Given the description of an element on the screen output the (x, y) to click on. 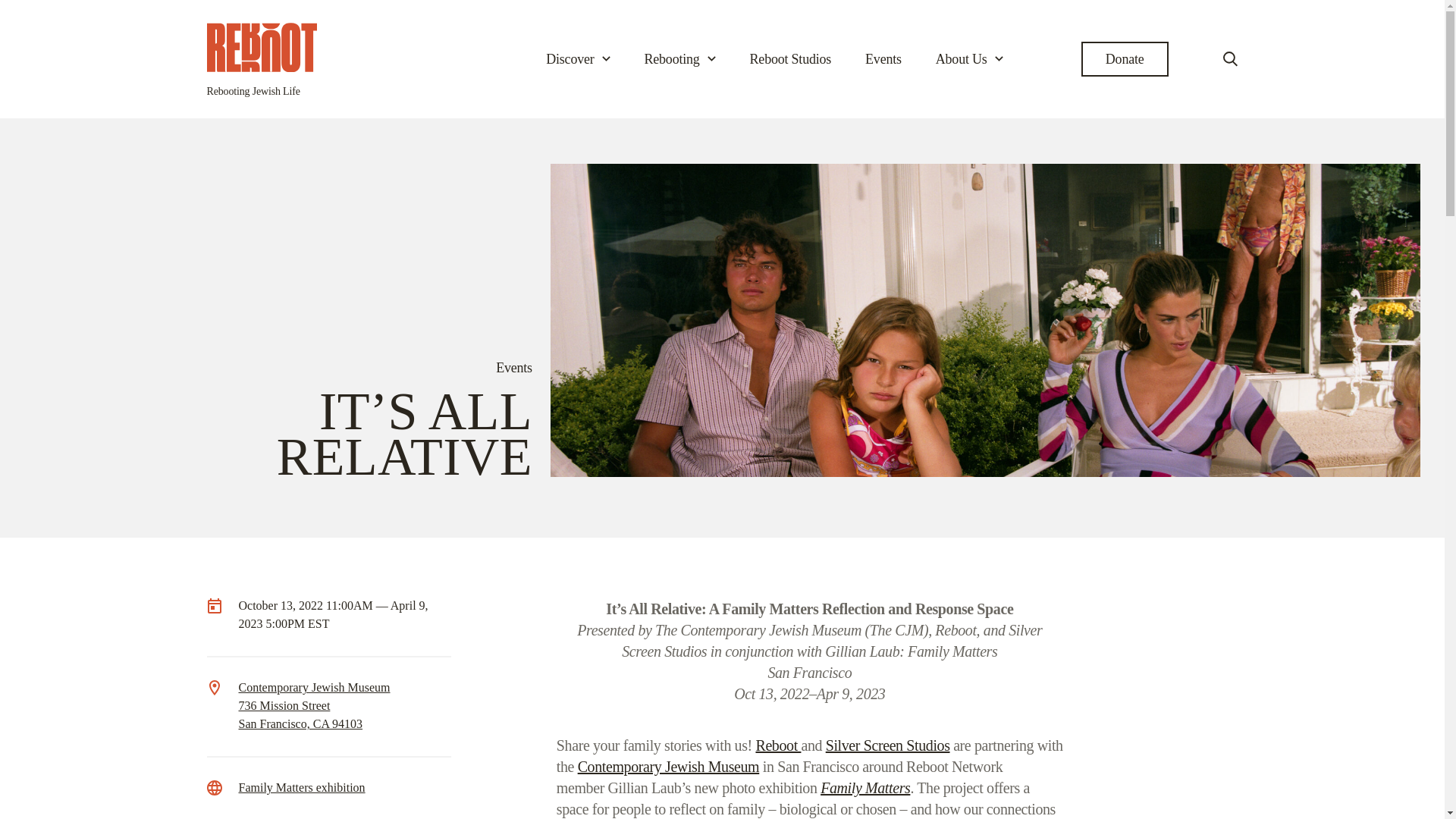
Rebooting (680, 59)
Discover (578, 59)
Family Matters exhibition (301, 787)
